Given the description of an element on the screen output the (x, y) to click on. 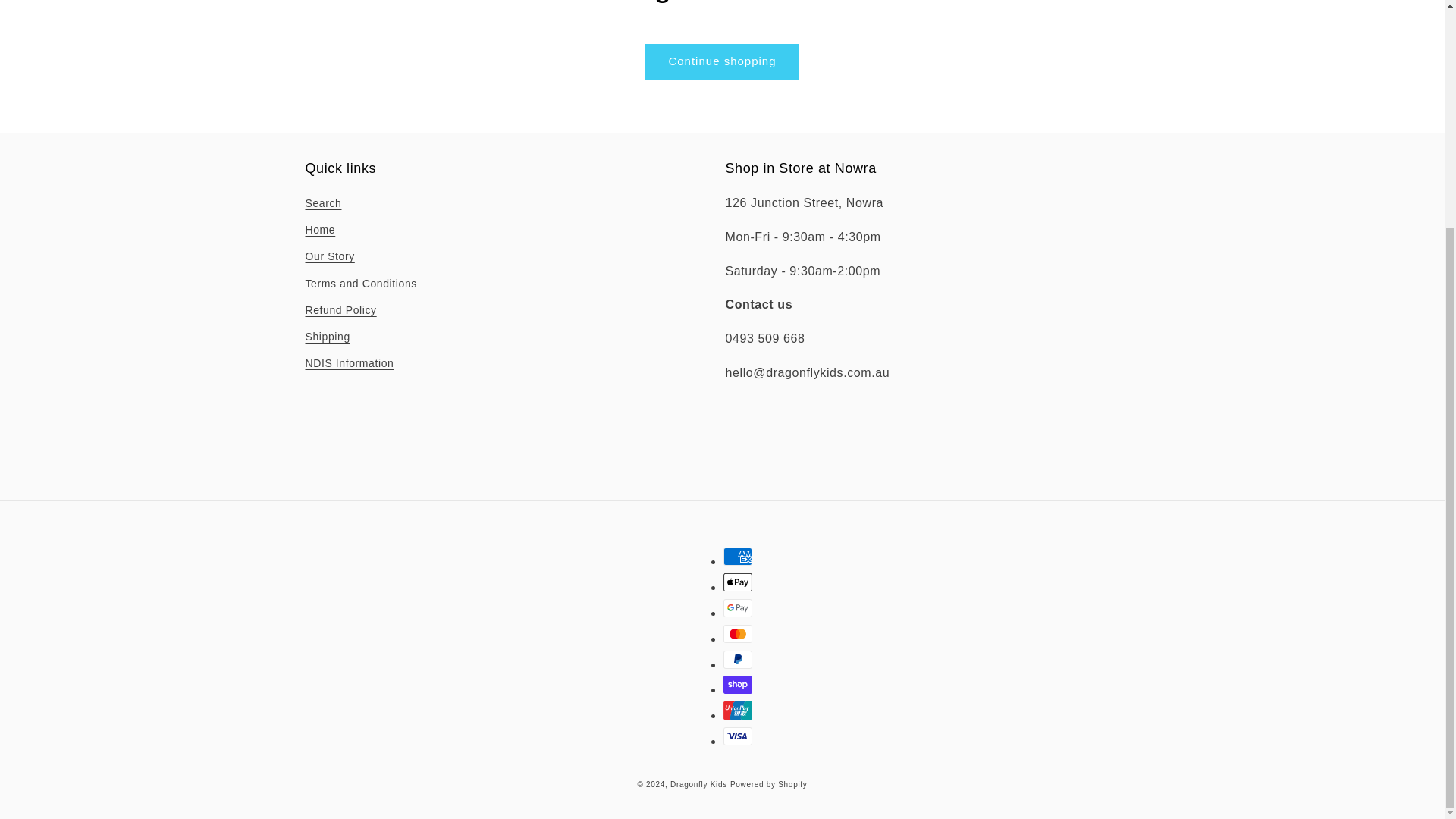
Shop Pay (737, 684)
Union Pay (737, 710)
PayPal (737, 659)
American Express (737, 556)
Mastercard (737, 633)
Visa (737, 736)
Google Pay (737, 607)
Apple Pay (737, 582)
